Given the description of an element on the screen output the (x, y) to click on. 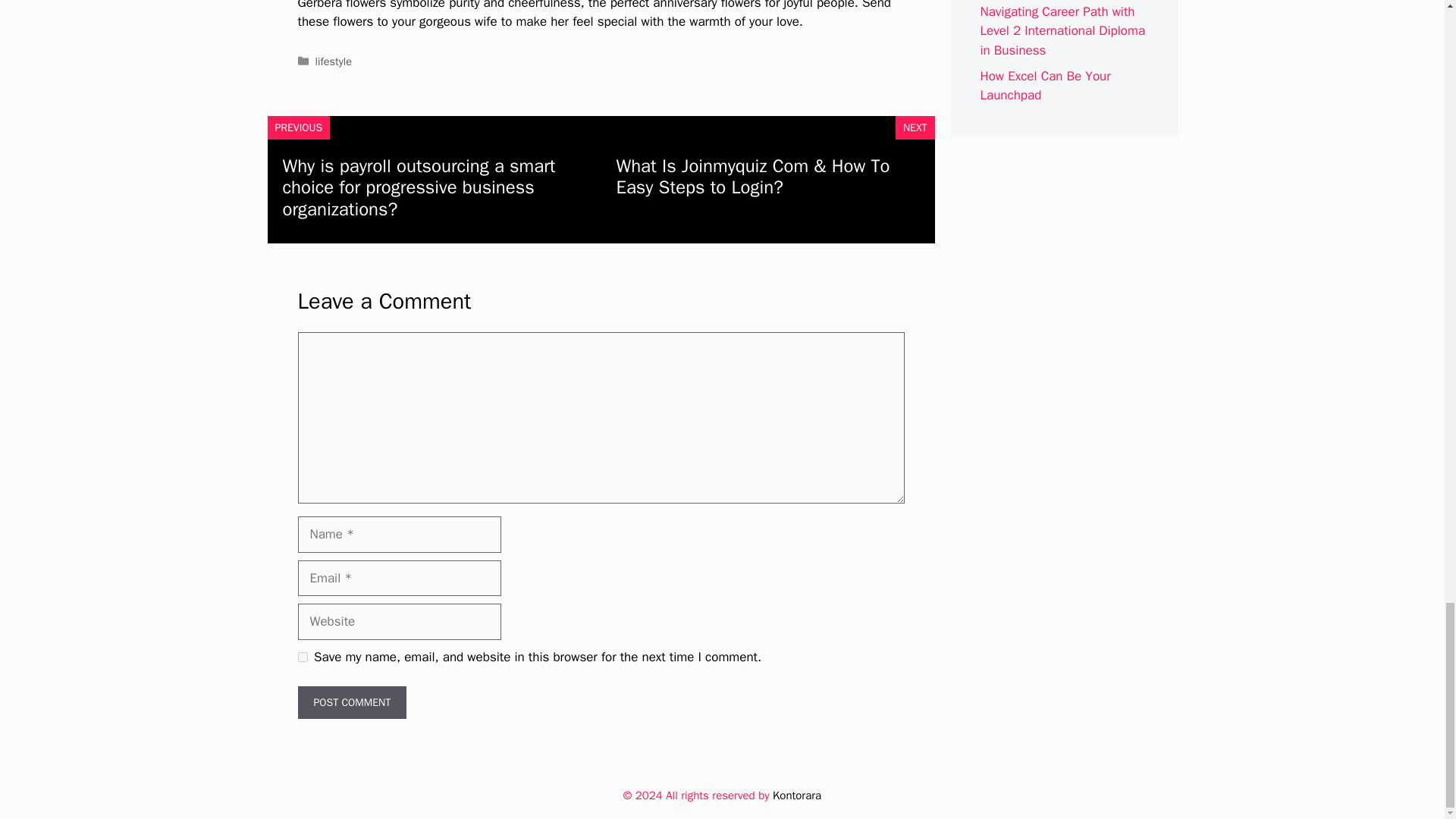
Post Comment (351, 702)
yes (302, 656)
lifestyle (333, 60)
